Given the description of an element on the screen output the (x, y) to click on. 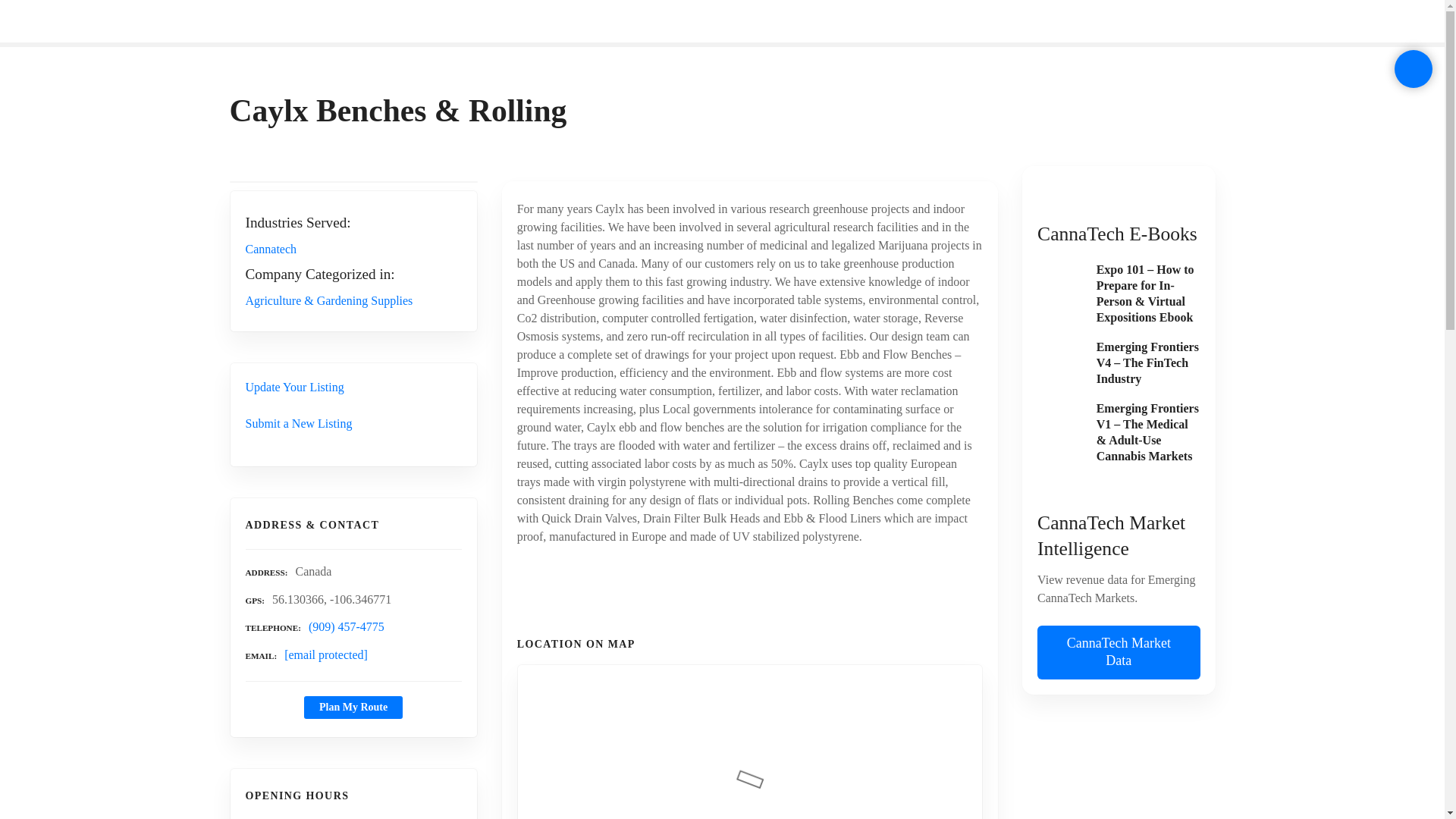
Update Your Listing (294, 386)
Cannatech (271, 248)
Plan My Route (353, 707)
Submit a New Listing (299, 422)
